Given the description of an element on the screen output the (x, y) to click on. 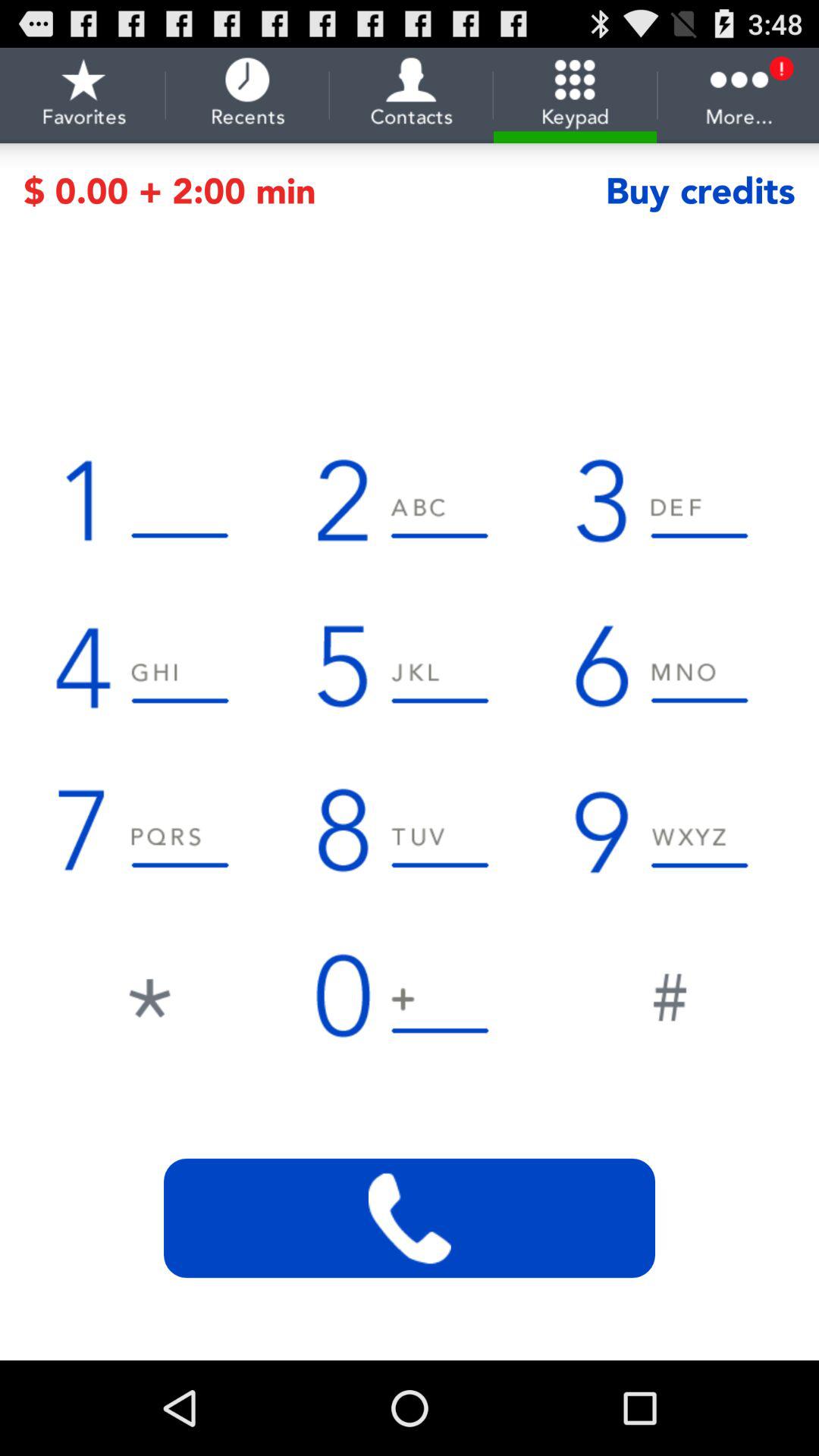
tap the item to the left of buy credits (314, 190)
